Given the description of an element on the screen output the (x, y) to click on. 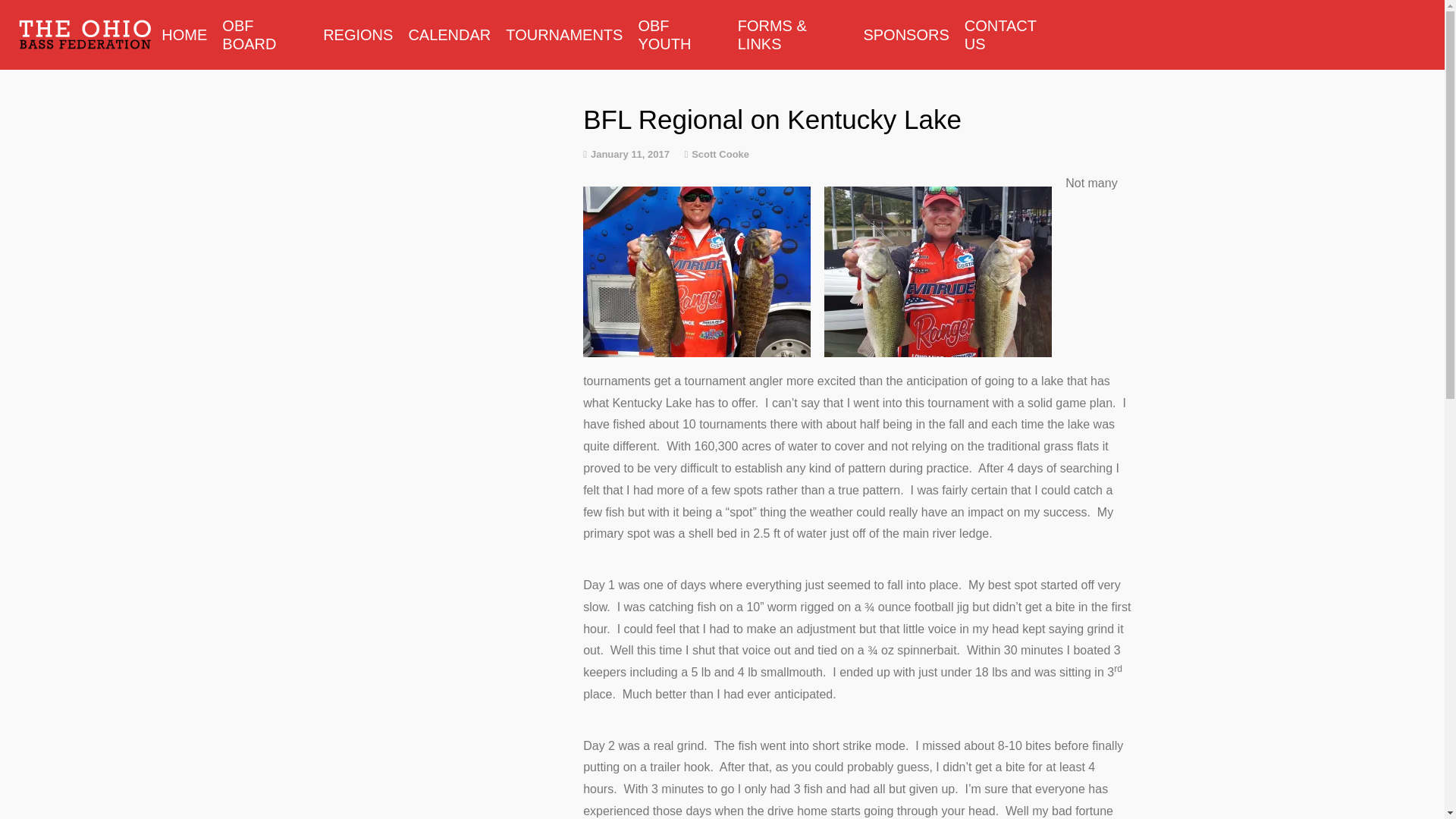
OBF YOUTH (679, 34)
OBF BOARD (264, 34)
CALENDAR (448, 34)
TOURNAMENTS (563, 34)
SPONSORS (906, 34)
REGIONS (357, 34)
CONTACT US (1011, 34)
HOME (184, 34)
